Given the description of an element on the screen output the (x, y) to click on. 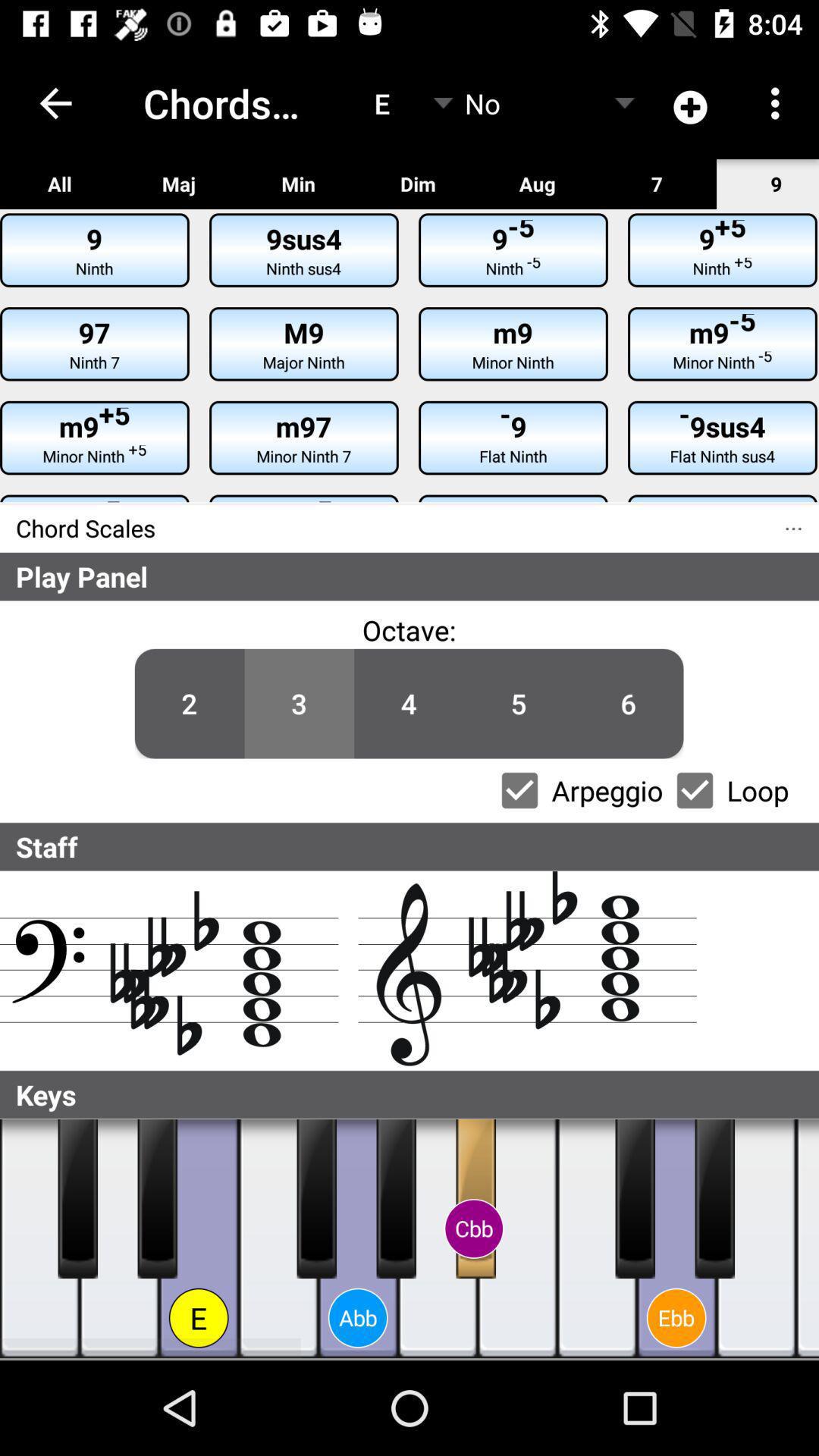
press icon next to 5 (409, 703)
